Given the description of an element on the screen output the (x, y) to click on. 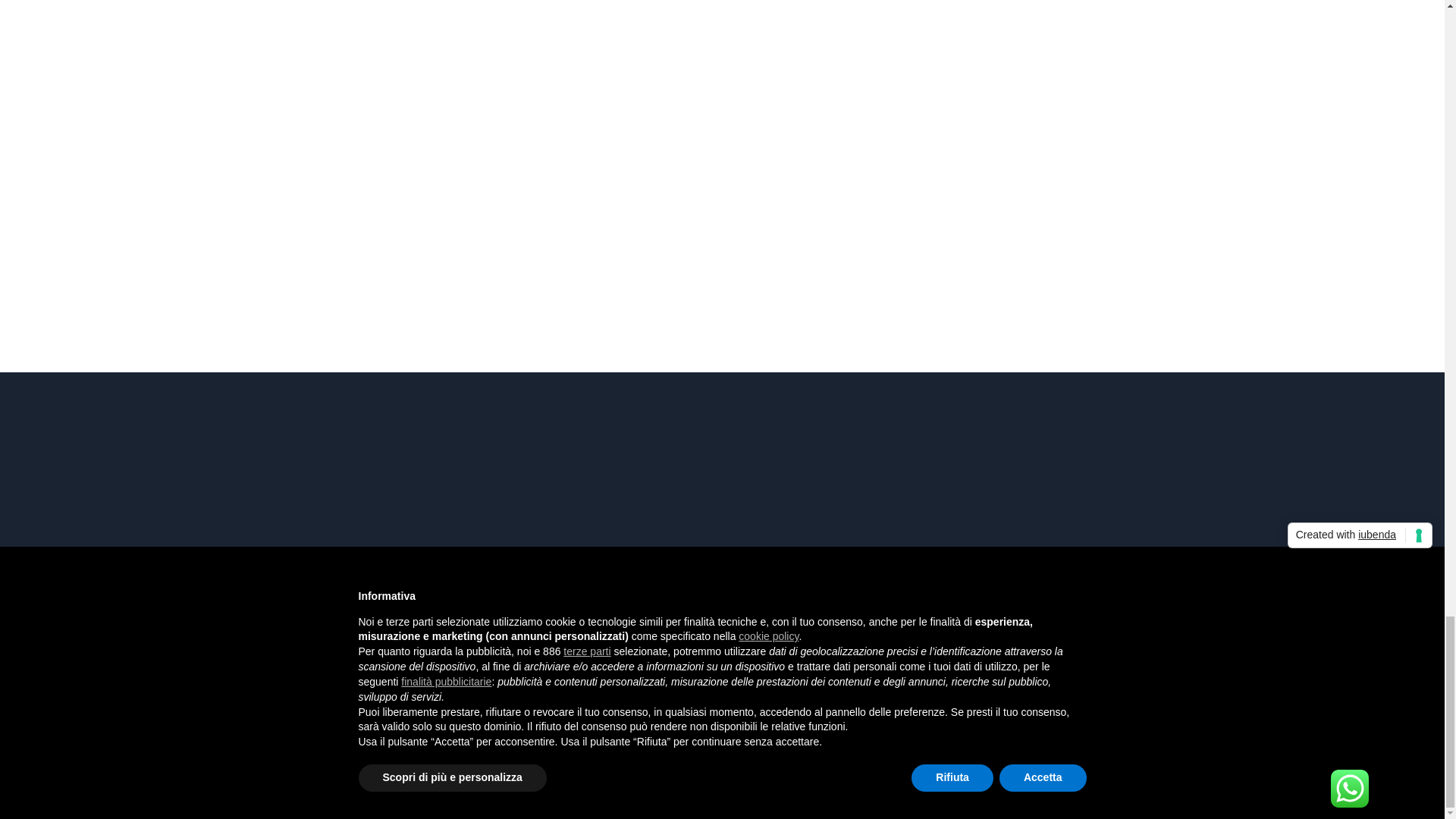
Customer reviews powered by Trustpilot (722, 717)
